Given the description of an element on the screen output the (x, y) to click on. 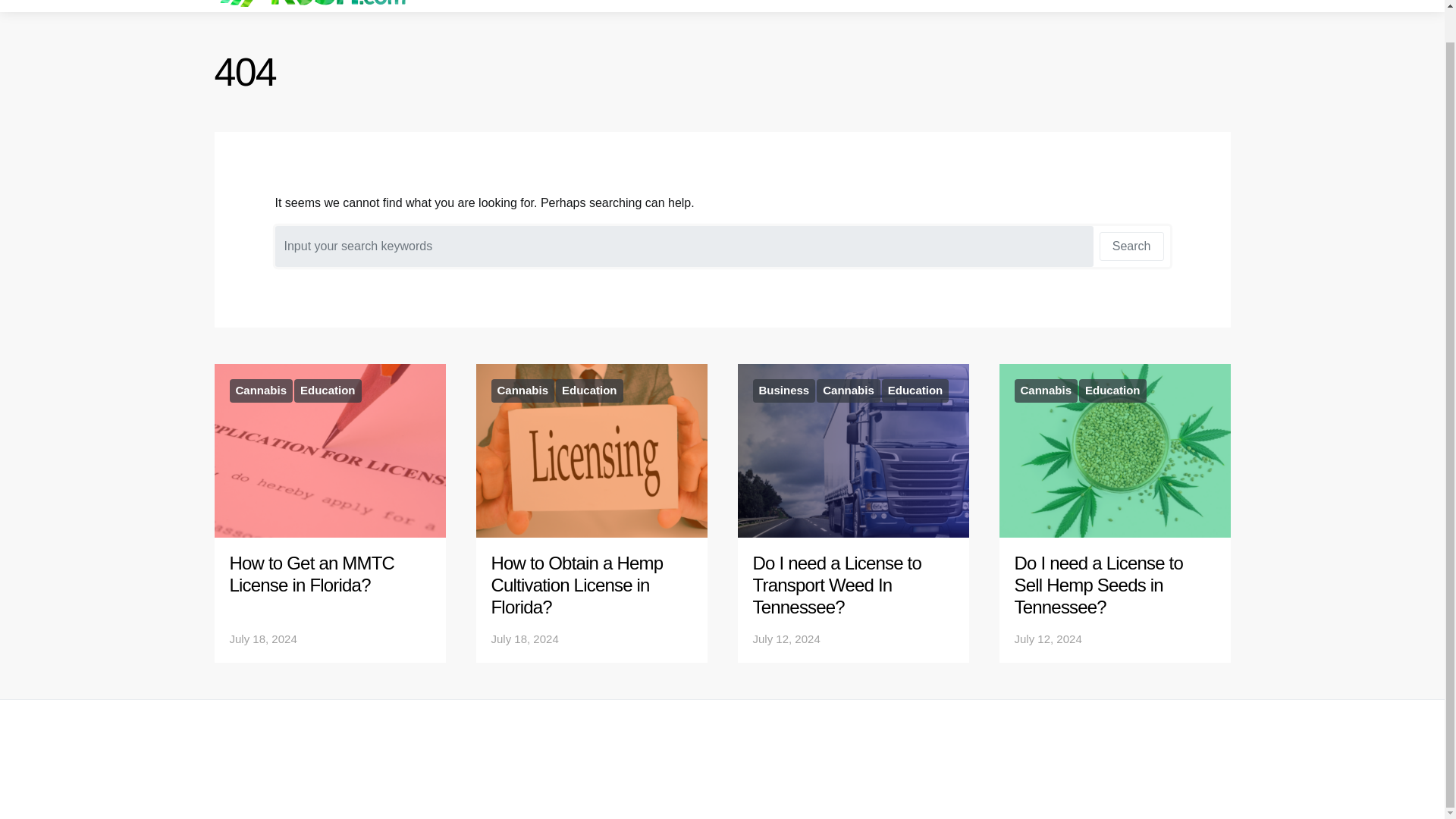
How to Get an MMTC License in Florida? (311, 573)
How to Obtain a Hemp Cultivation License in Florida? (577, 584)
Do I need a License to Transport Weed In Tennessee? (836, 584)
Do I need a License to Sell Hemp Seeds in Tennessee? (1098, 584)
